Given the description of an element on the screen output the (x, y) to click on. 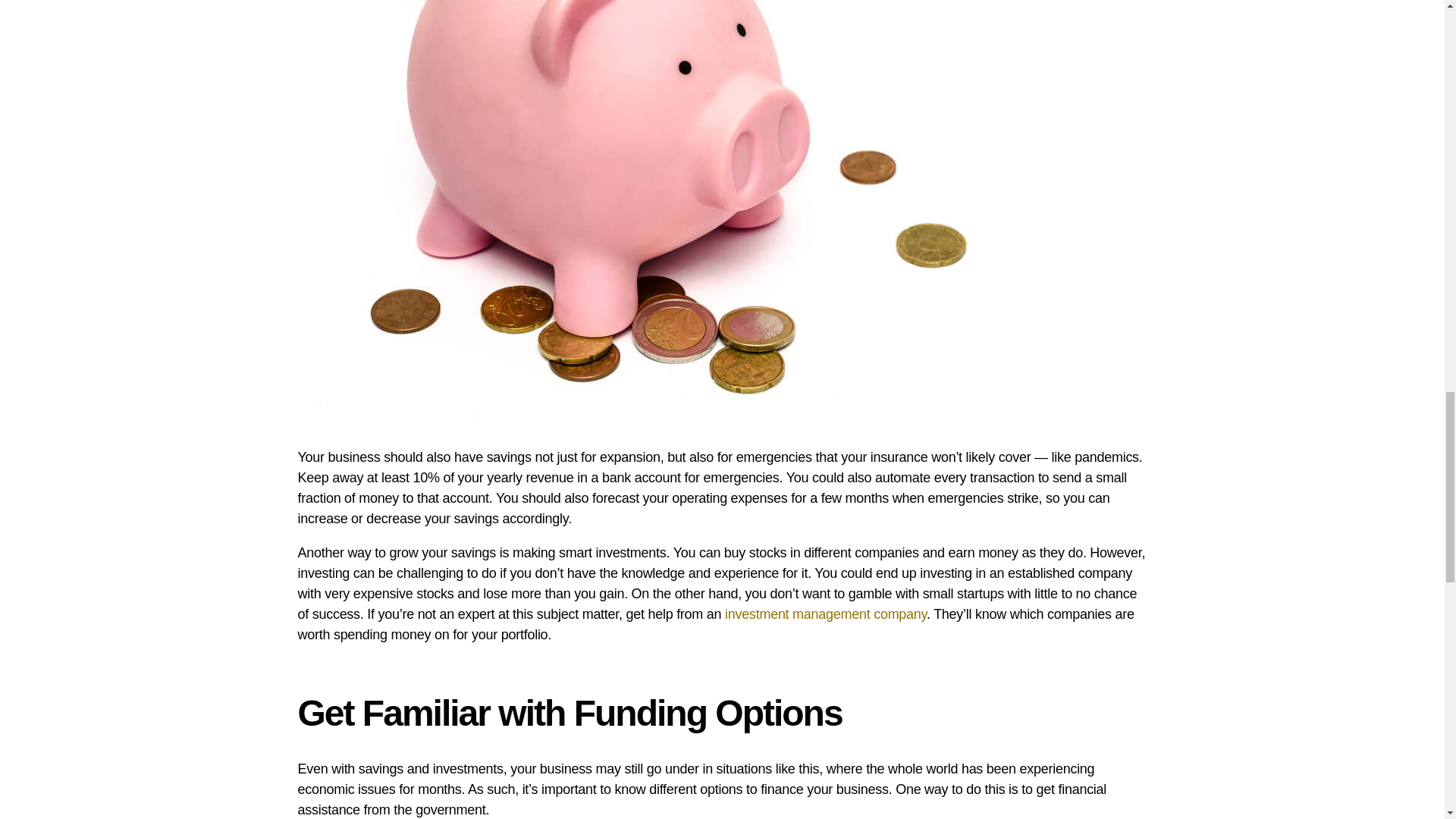
investment management company (825, 613)
